Given the description of an element on the screen output the (x, y) to click on. 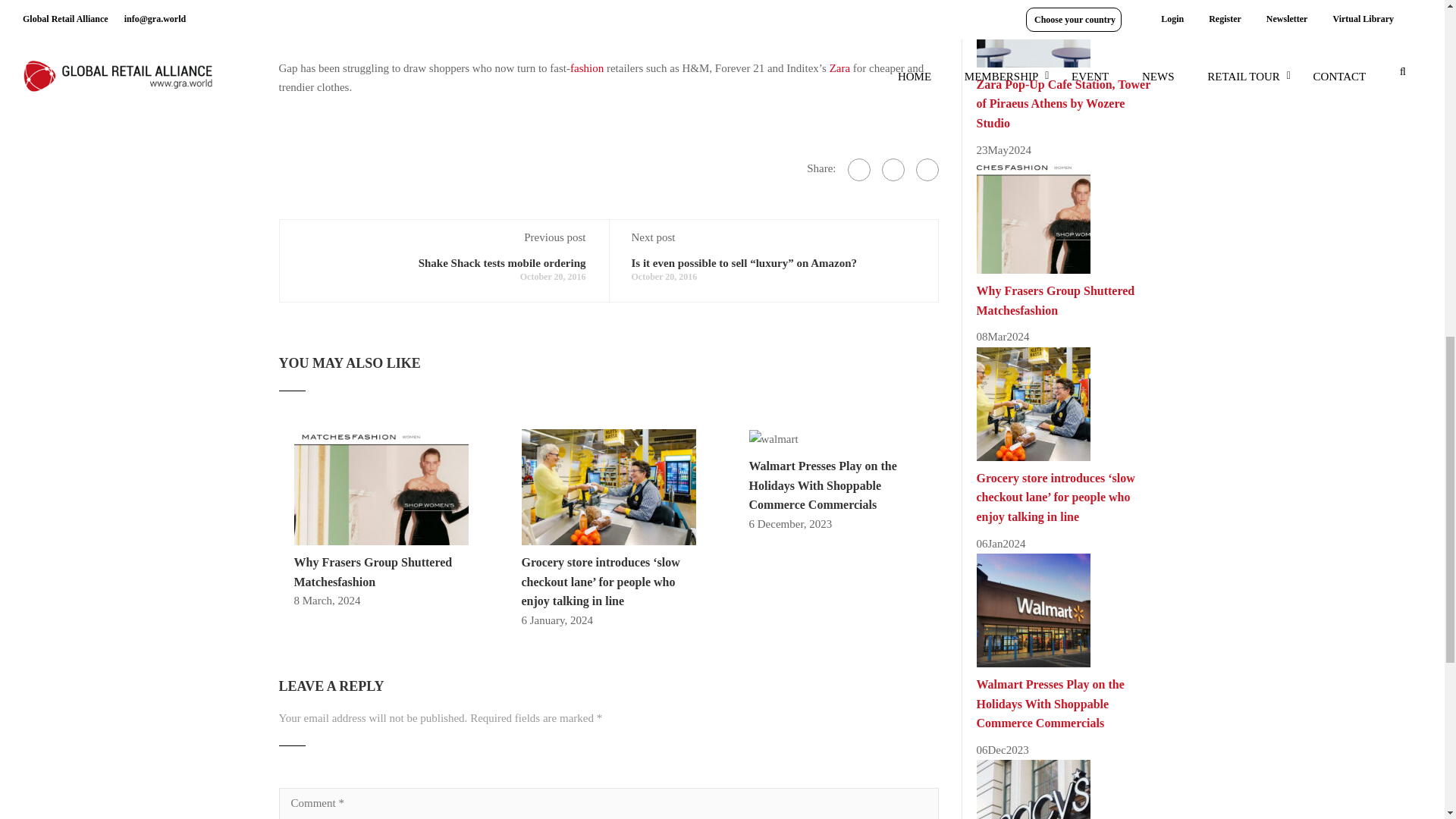
Twitter (892, 169)
Why Frasers Group Shuttered Matchesfashion (373, 572)
Facebook (858, 169)
matchesfashion (381, 487)
walmart (773, 439)
Senza-titolo-1 (608, 487)
